Given the description of an element on the screen output the (x, y) to click on. 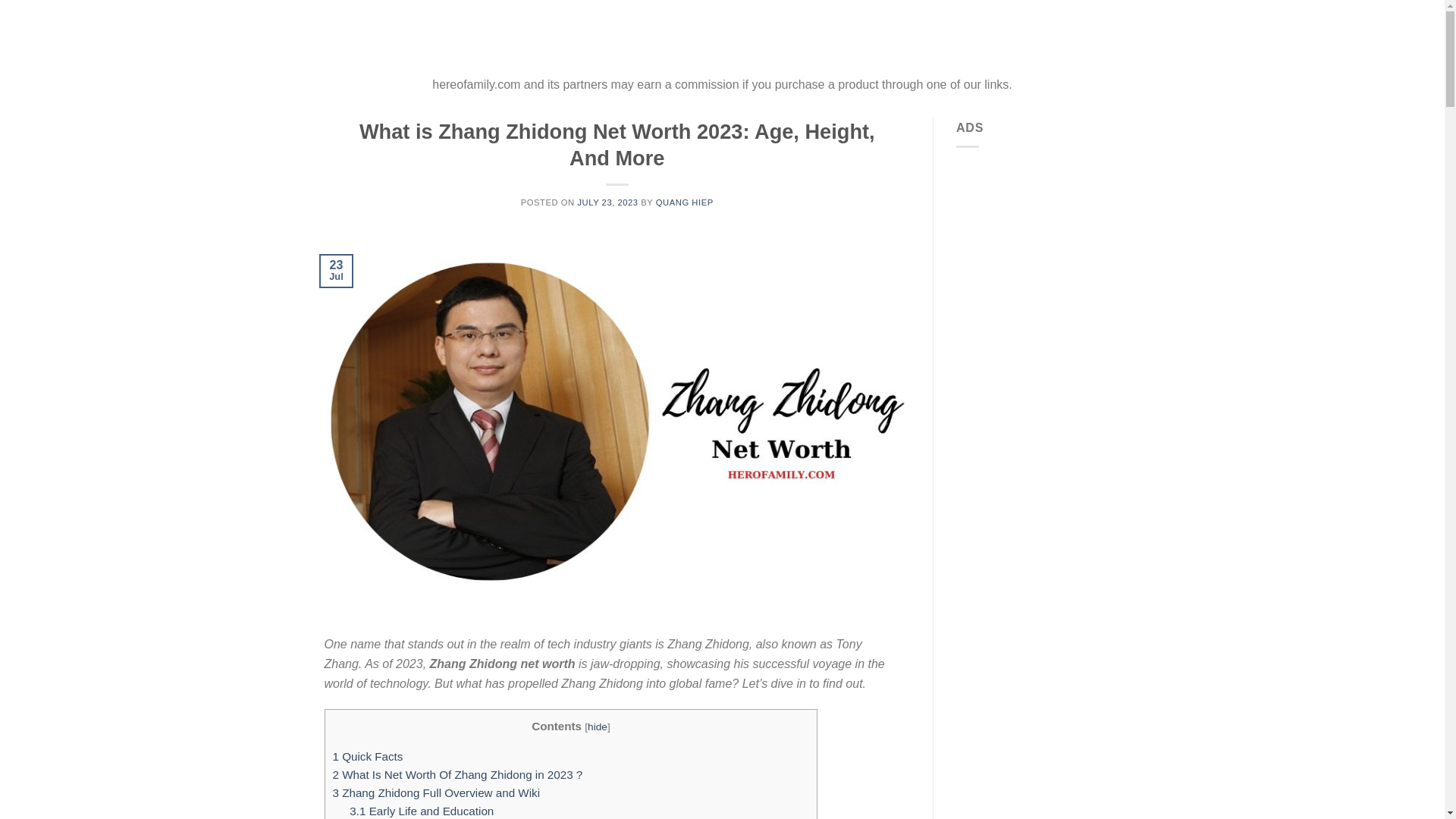
hereO - Family Safety: Nanny Cams, GPS Watch and more! (721, 37)
3.1 Early Life and Education (421, 810)
hide (597, 726)
2 What Is Net Worth Of Zhang Zhidong in 2023 ? (456, 774)
3 Zhang Zhidong Full Overview and Wiki (435, 792)
JULY 23, 2023 (606, 202)
MENU (354, 37)
1 Quick Facts (367, 755)
